Given the description of an element on the screen output the (x, y) to click on. 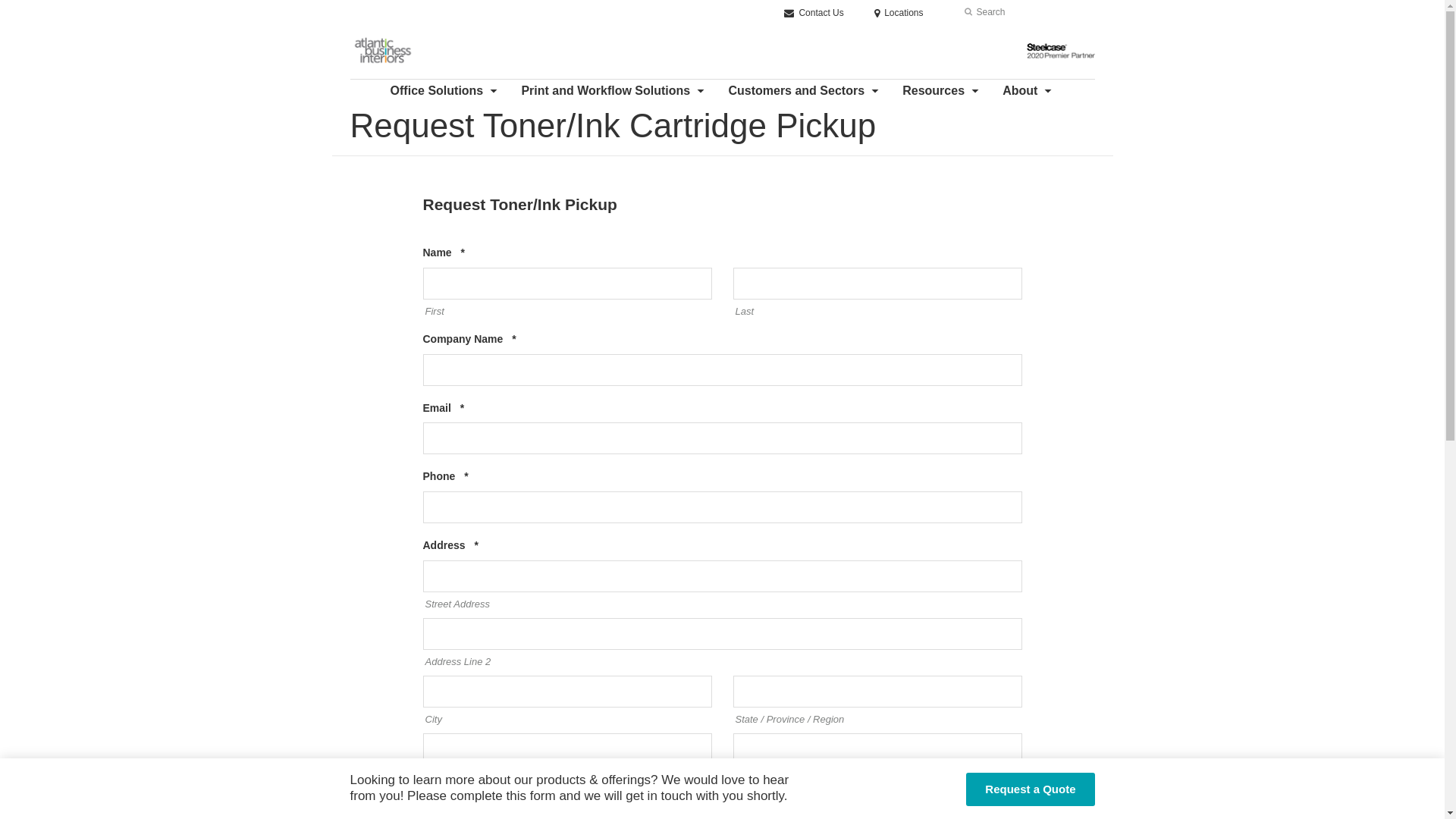
Resources Element type: text (941, 90)
About Element type: text (1028, 90)
Print and Workflow Solutions Element type: text (613, 90)
Customers and Sectors Element type: text (804, 90)
Steelcase 2020 Premier Partner Element type: text (1060, 50)
Office Solutions Element type: text (445, 90)
Submit Search Element type: text (968, 11)
Locations Element type: text (898, 12)
Request a Quote Element type: text (1030, 789)
Contact Us Element type: text (814, 12)
